Given the description of an element on the screen output the (x, y) to click on. 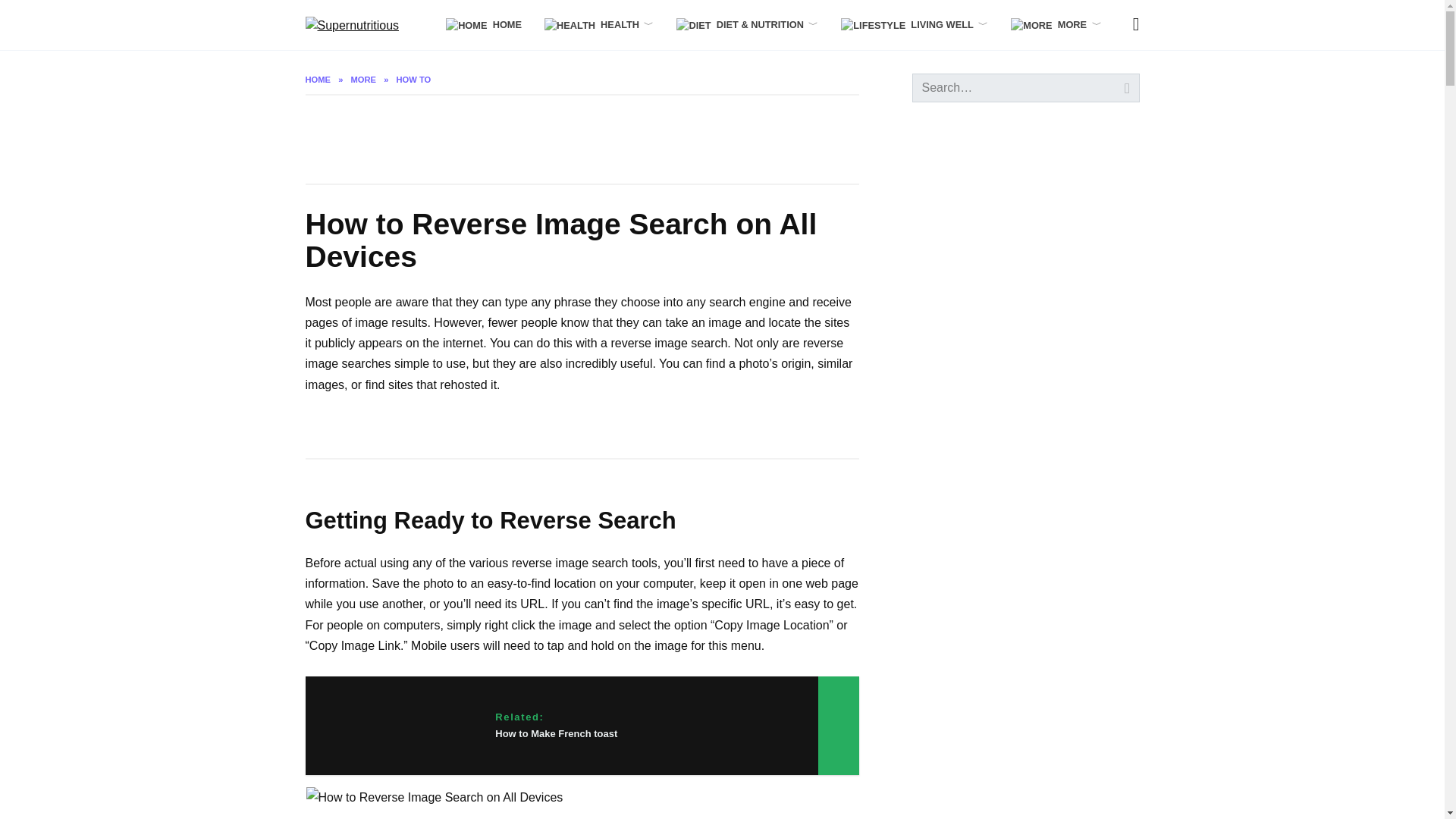
  HEALTH (598, 24)
  MORE (1055, 24)
  HOME (483, 24)
  LIVING WELL (914, 24)
